Given the description of an element on the screen output the (x, y) to click on. 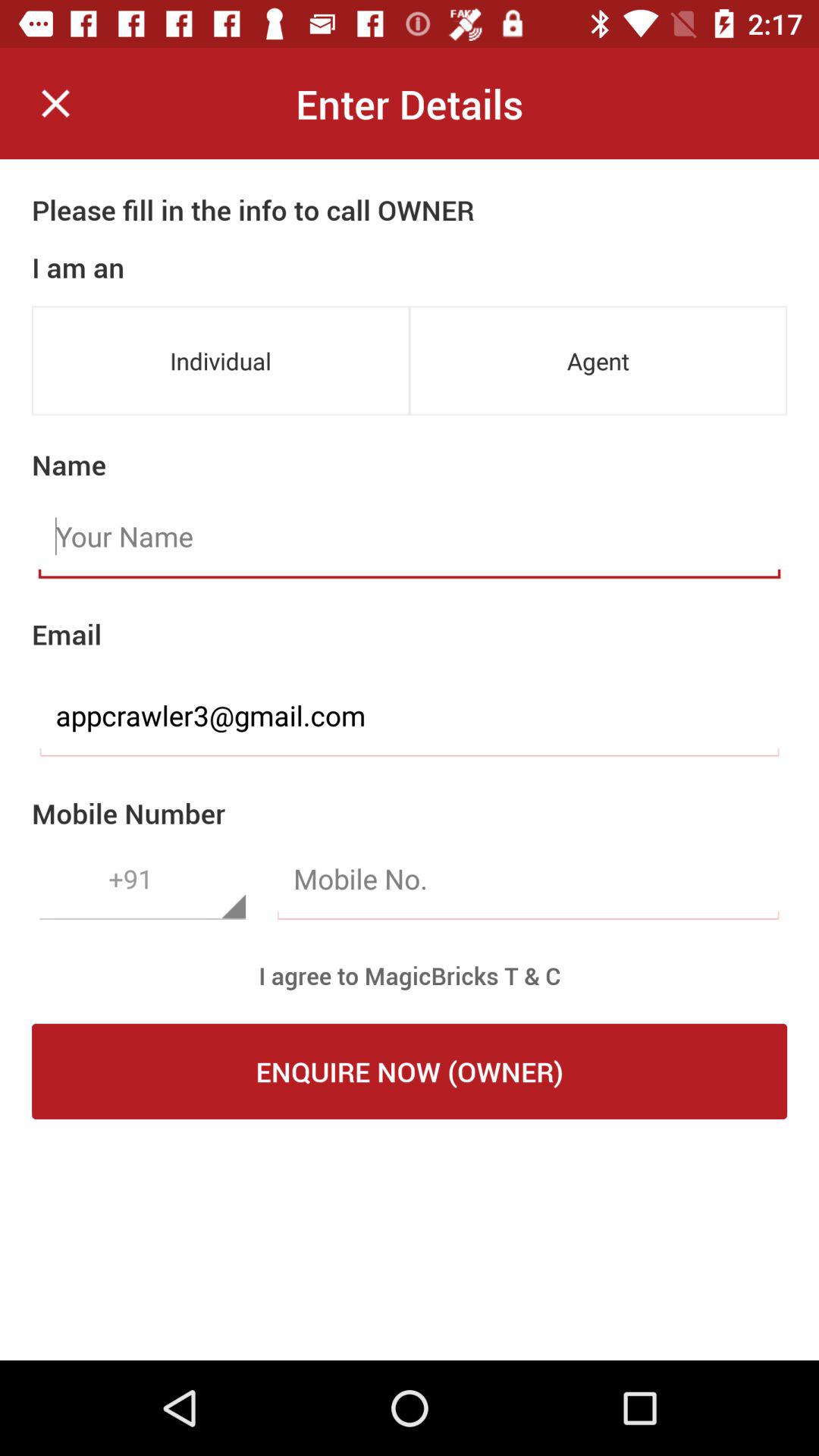
turn on the item above the mobile number icon (409, 716)
